Given the description of an element on the screen output the (x, y) to click on. 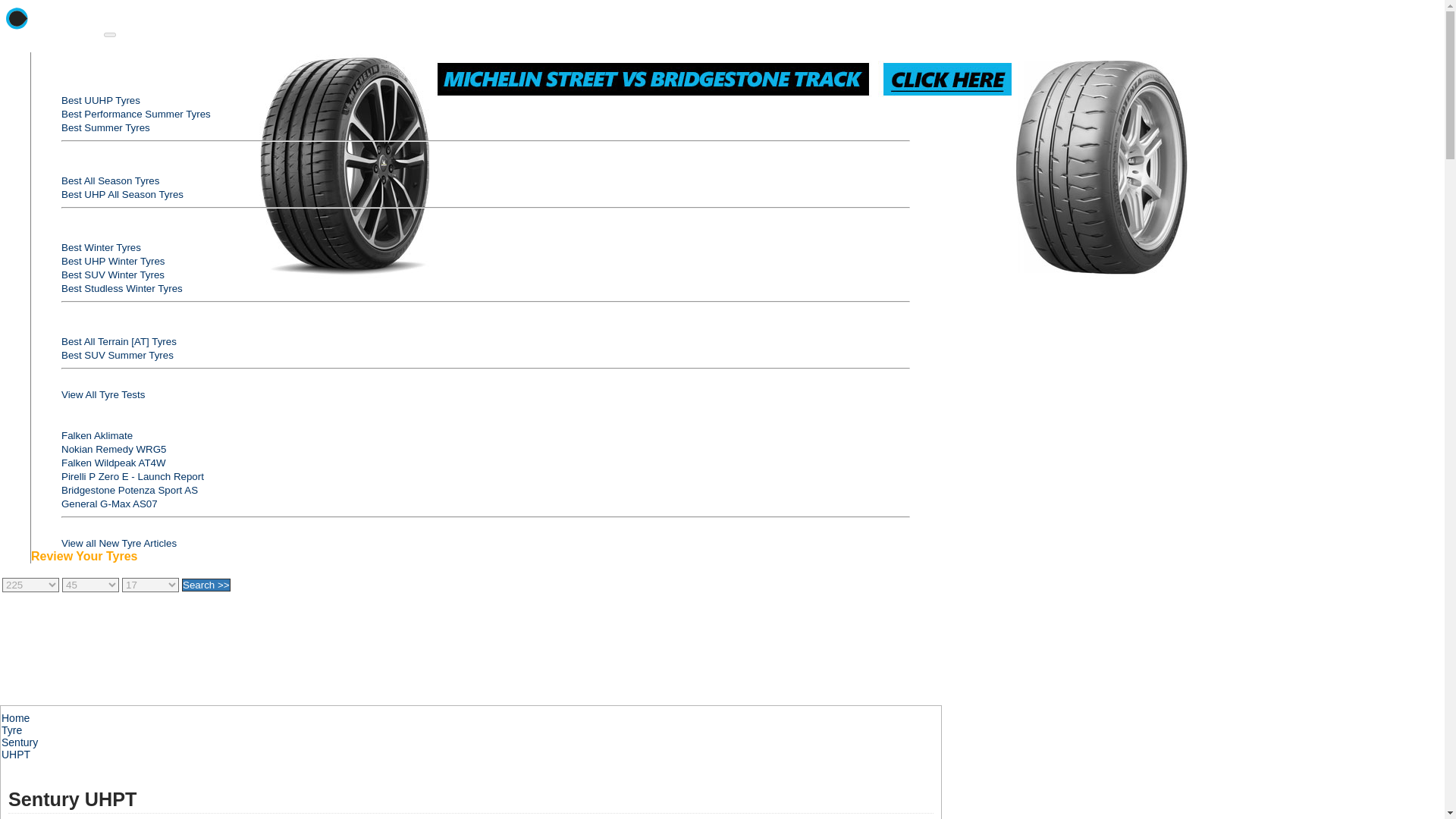
Best UHP All Season Tyres (122, 194)
Falken Wildpeak AT4W (113, 462)
General G-Max AS07 (109, 503)
Best UHP Winter Tyres (113, 260)
Tyre (11, 729)
UHPT (15, 754)
Best SUV Winter Tyres (112, 274)
Best Studless Winter Tyres (122, 288)
Tyre Reviews (51, 33)
Best Summer Tyres (105, 127)
Pirelli P Zero E - Launch Report (132, 476)
Compare Tyres (71, 407)
Tyre Tests (57, 72)
Sentury (19, 742)
Falken Aklimate (96, 435)
